Given the description of an element on the screen output the (x, y) to click on. 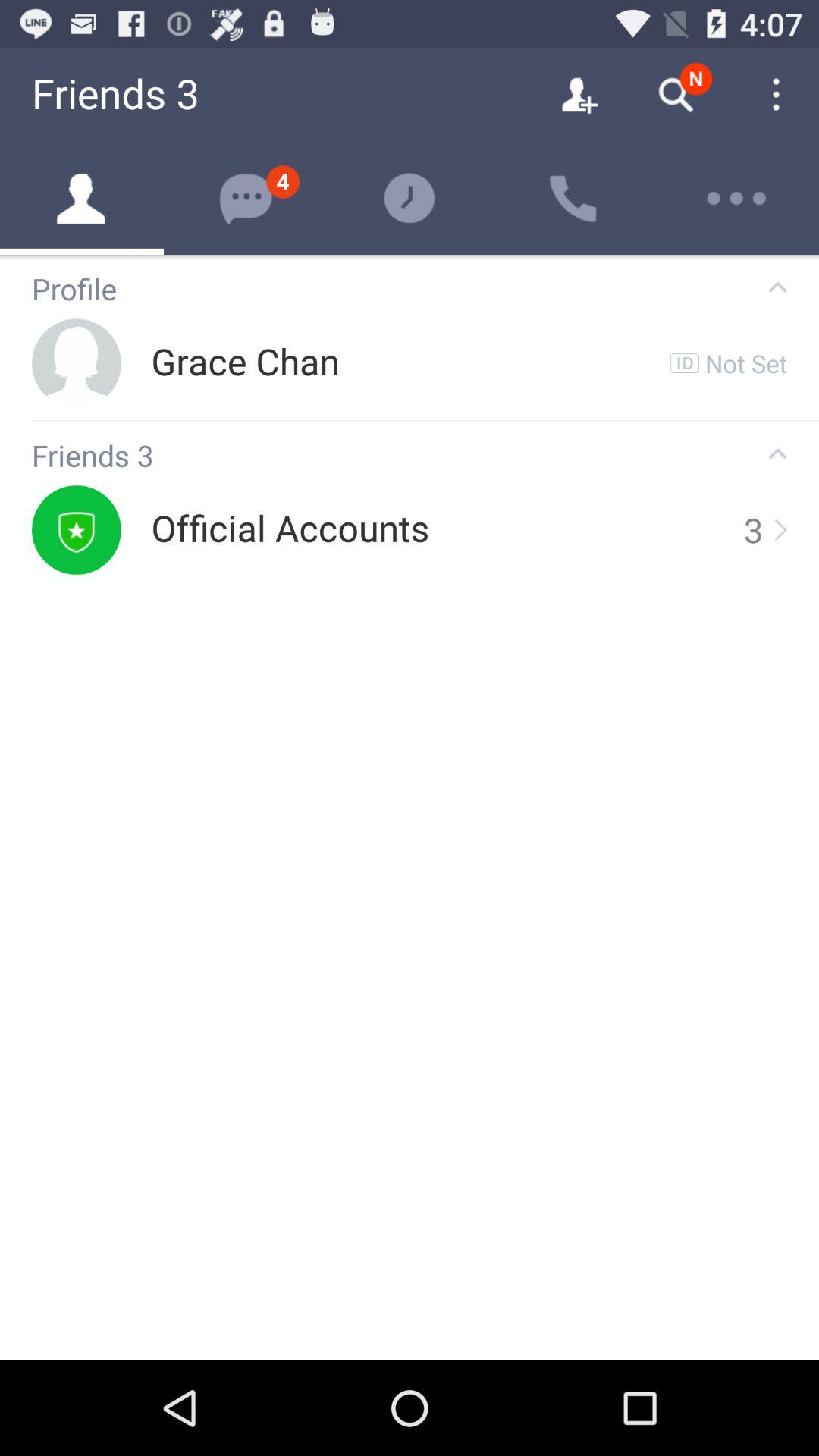
open item to the right of 3 item (779, 529)
